Given the description of an element on the screen output the (x, y) to click on. 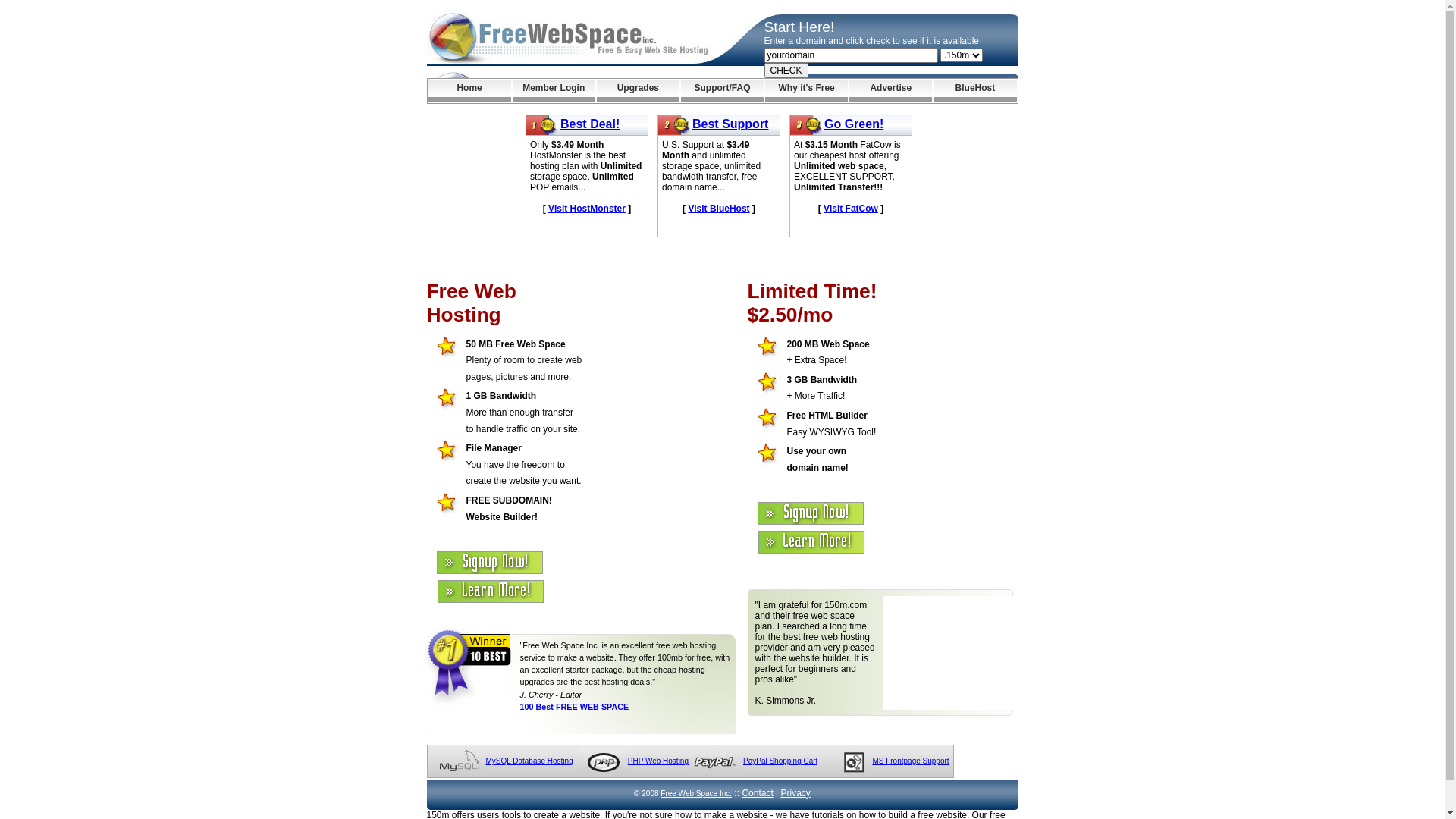
Support/FAQ Element type: text (721, 90)
Free Web Space Inc. Element type: text (695, 793)
Contact Element type: text (756, 792)
MySQL Database Hosting Element type: text (528, 760)
Advertise Element type: text (890, 90)
BlueHost Element type: text (974, 90)
Why it's Free Element type: text (806, 90)
Privacy Element type: text (795, 792)
Home Element type: text (468, 90)
CHECK Element type: text (786, 70)
MS Frontpage Support Element type: text (910, 760)
Upgrades Element type: text (637, 90)
PHP Web Hosting Element type: text (657, 760)
Member Login Element type: text (553, 90)
100 Best FREE WEB SPACE Element type: text (574, 706)
PayPal Shopping Cart Element type: text (780, 760)
